Given the description of an element on the screen output the (x, y) to click on. 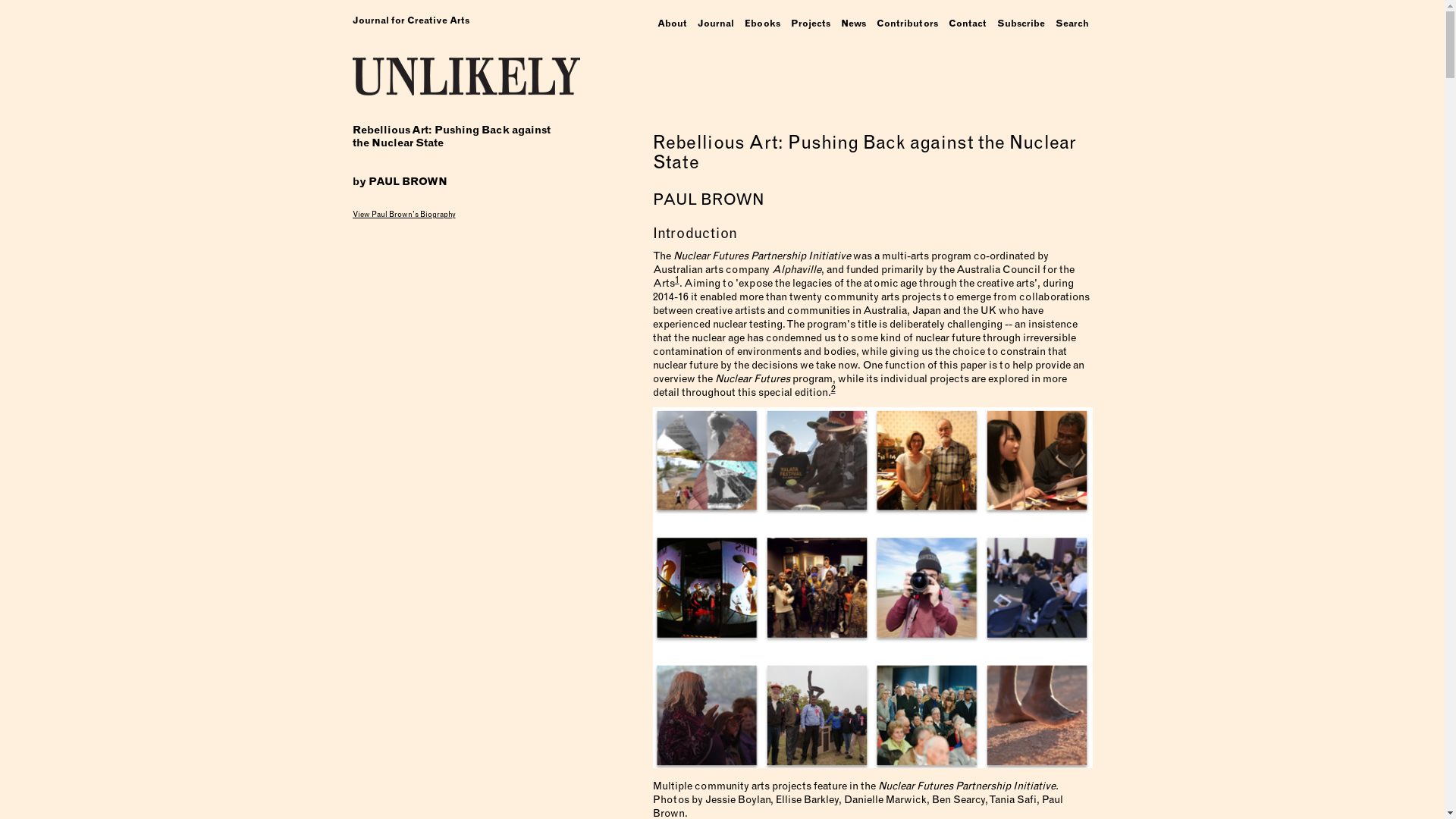
Journal for Creative Arts Element type: text (409, 20)
View Paul Brown's Biography Element type: text (446, 212)
2 Element type: text (833, 388)
Subscribe Element type: text (1020, 23)
Projects Element type: text (810, 23)
Search Element type: text (1071, 23)
About Element type: text (671, 23)
Journal Element type: text (715, 23)
Contributors Element type: text (906, 23)
Contact Element type: text (967, 23)
News Element type: text (853, 23)
Ebooks Element type: text (761, 23)
1 Element type: text (676, 279)
